Given the description of an element on the screen output the (x, y) to click on. 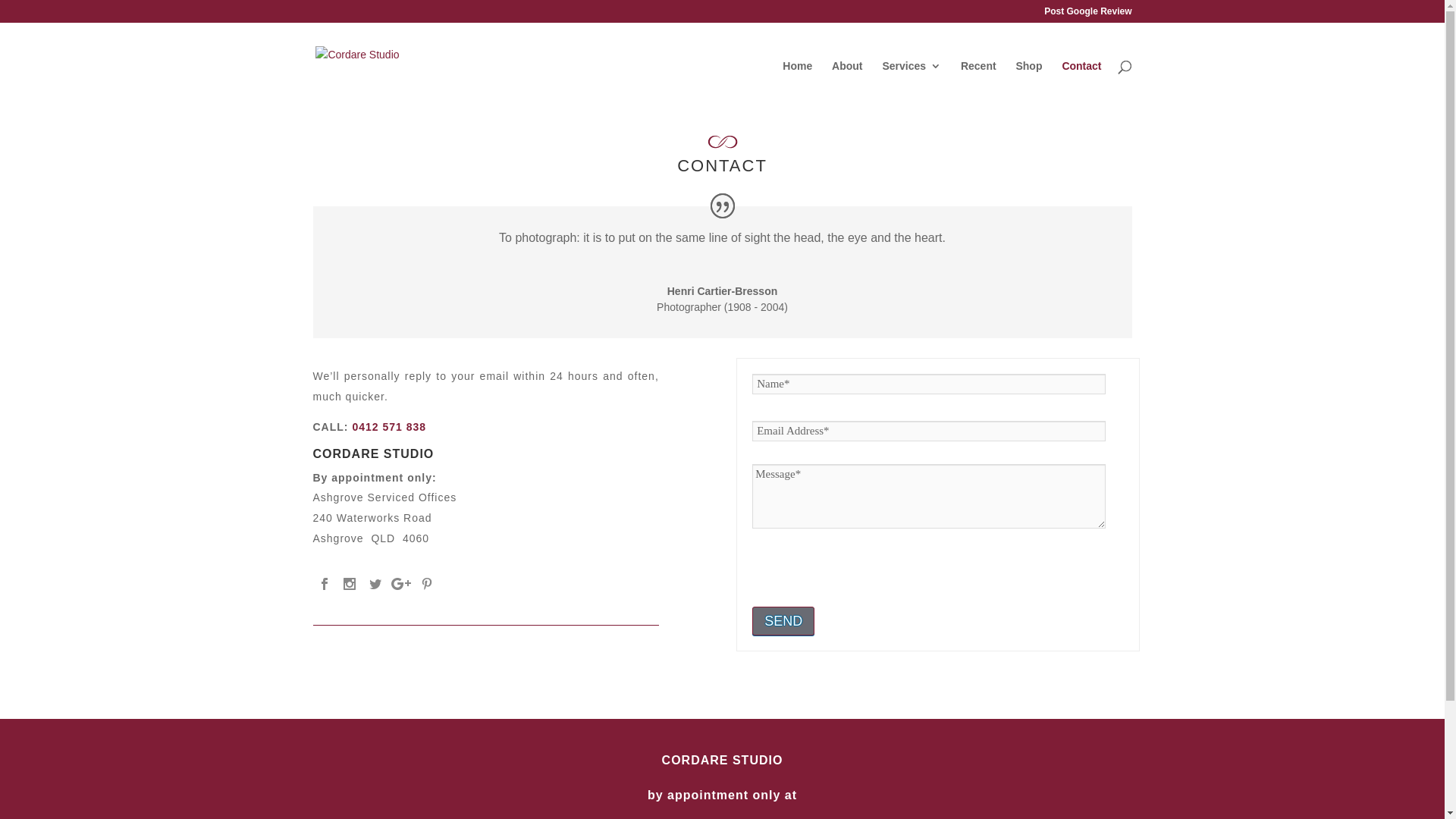
Services Element type: text (911, 84)
0412 571 838 Element type: text (388, 426)
Shop Element type: text (1028, 84)
Post Google Review Element type: text (1087, 14)
Home Element type: text (797, 84)
Recent Element type: text (978, 84)
Contact Element type: text (1081, 84)
About Element type: text (846, 84)
SEND Element type: text (783, 620)
